Given the description of an element on the screen output the (x, y) to click on. 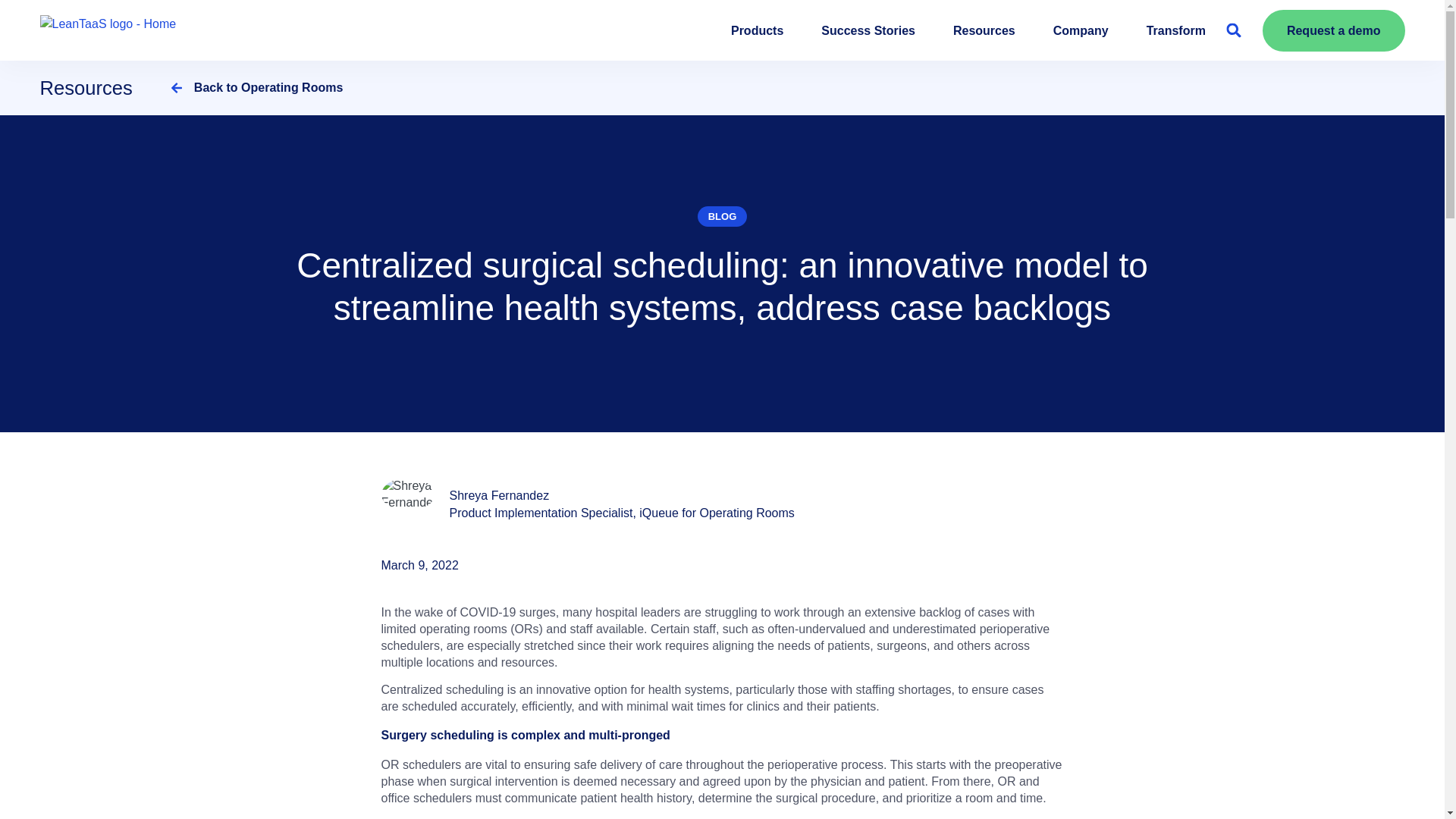
Resources (983, 30)
Success Stories (868, 30)
Products (756, 30)
Shreya Fernandez (498, 495)
Company (1080, 30)
Transform (1176, 30)
